Given the description of an element on the screen output the (x, y) to click on. 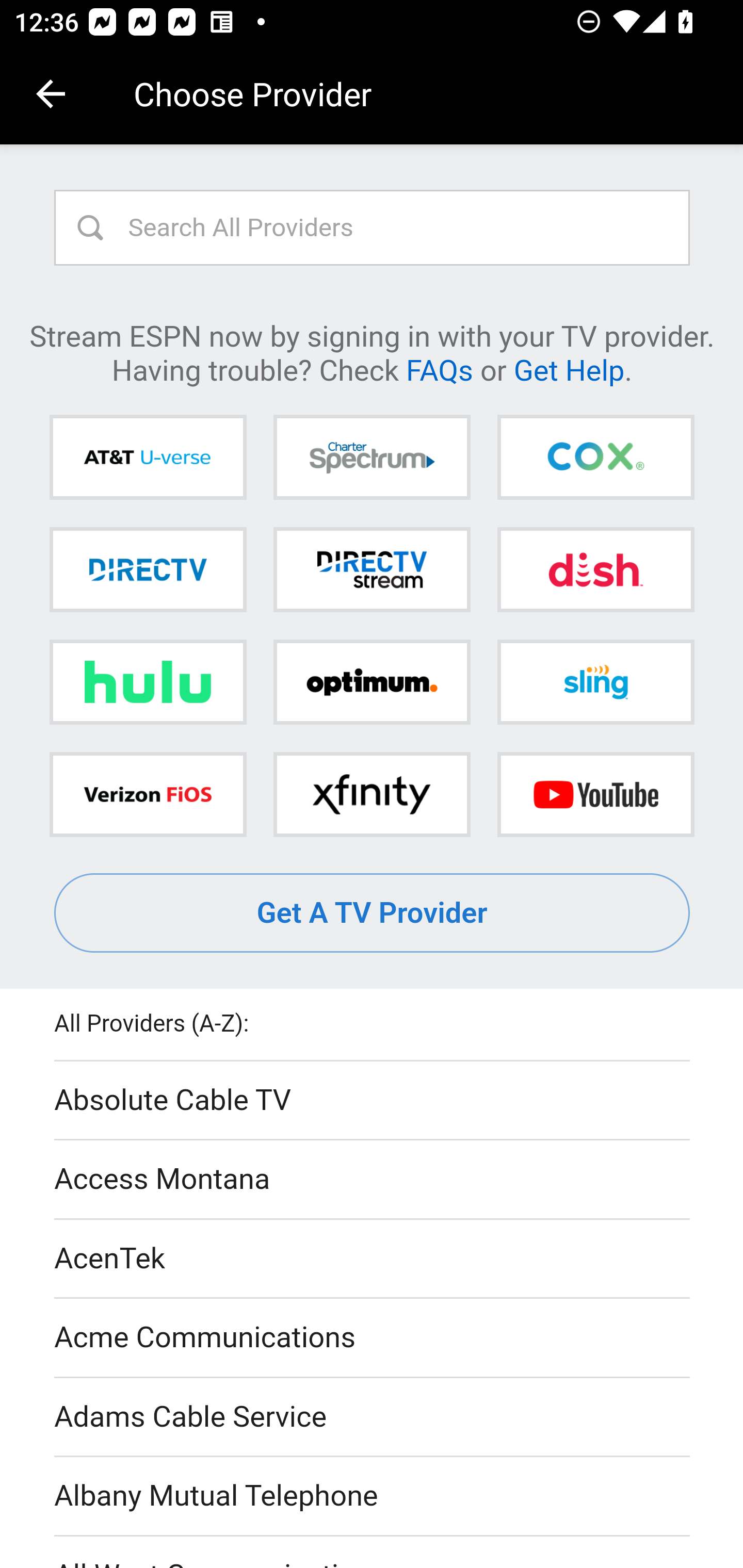
Navigate up (50, 93)
FAQs (438, 369)
Get Help (569, 369)
AT&T U-verse (147, 457)
Charter Spectrum (371, 457)
Cox (595, 457)
DIRECTV (147, 568)
DIRECTV STREAM (371, 568)
DISH (595, 568)
Hulu (147, 681)
Optimum (371, 681)
Sling TV (595, 681)
Verizon FiOS (147, 793)
Xfinity (371, 793)
YouTube TV (595, 793)
Get A TV Provider (372, 912)
Absolute Cable TV (372, 1100)
Access Montana (372, 1178)
AcenTek (372, 1258)
Acme Communications (372, 1338)
Adams Cable Service (372, 1417)
Albany Mutual Telephone (372, 1497)
